Given the description of an element on the screen output the (x, y) to click on. 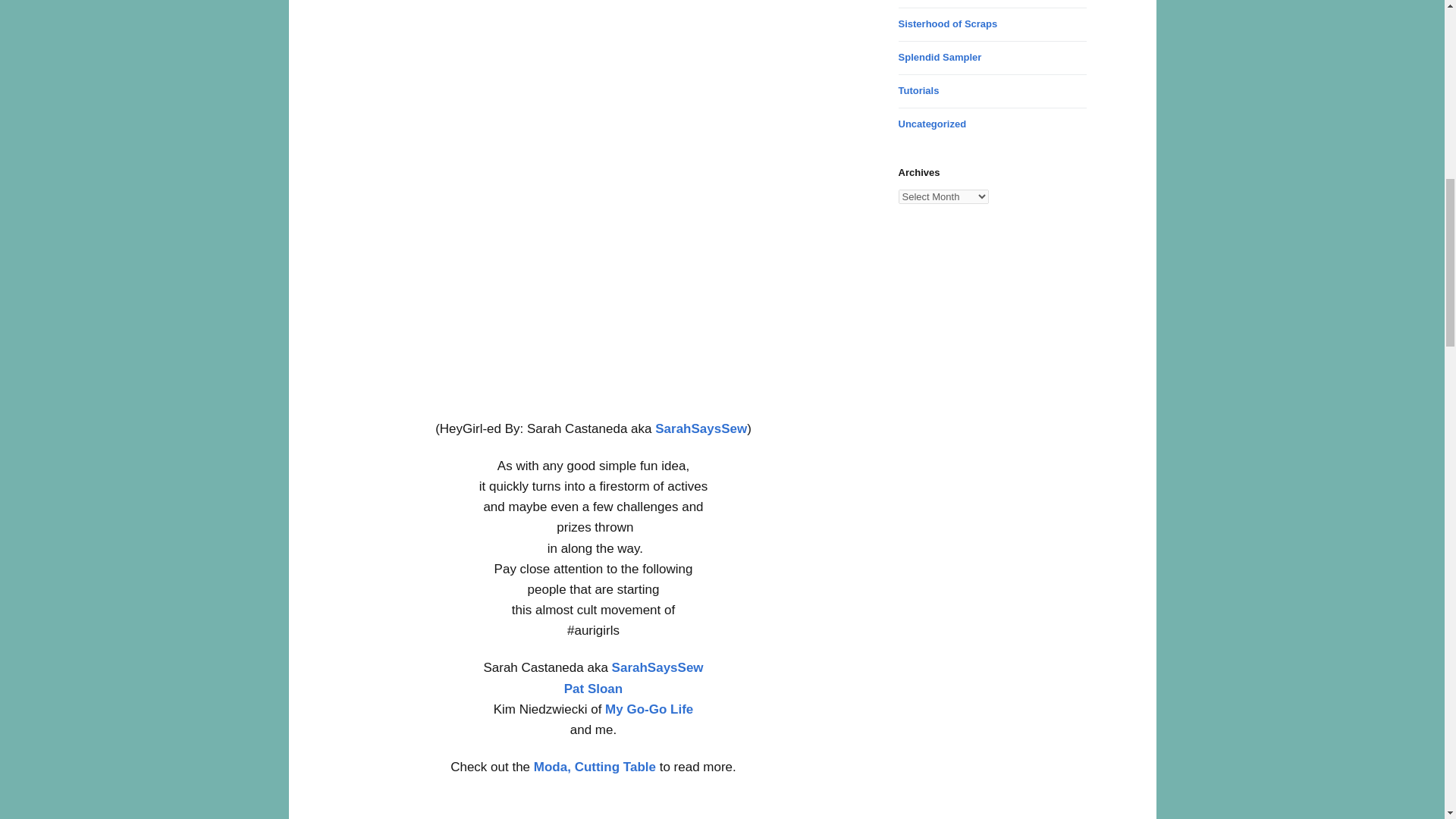
My Go-Go Life (649, 708)
Pat Sloan (593, 688)
SarahSaysSew (657, 667)
SarahSaysSew (700, 428)
Moda, Cutting Table (595, 766)
